Given the description of an element on the screen output the (x, y) to click on. 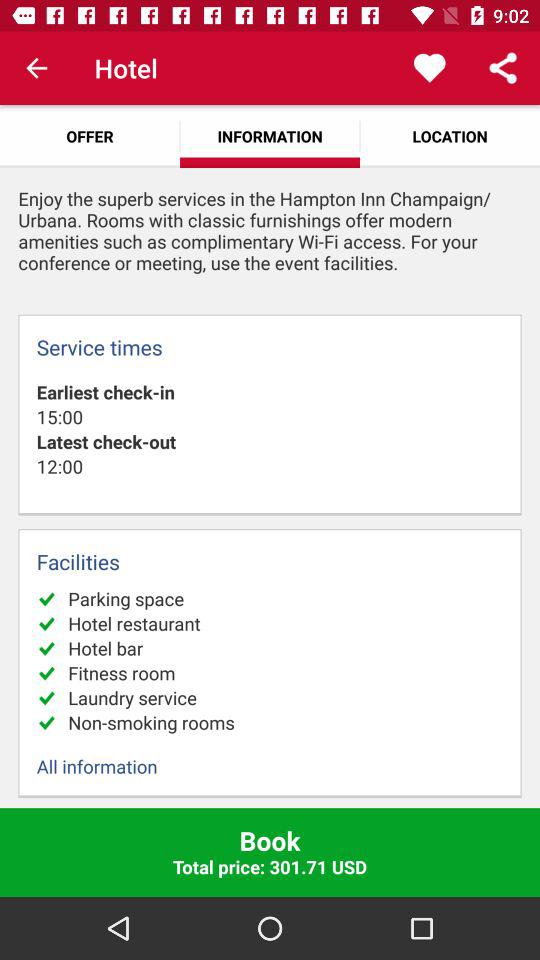
jump to all information item (269, 766)
